Given the description of an element on the screen output the (x, y) to click on. 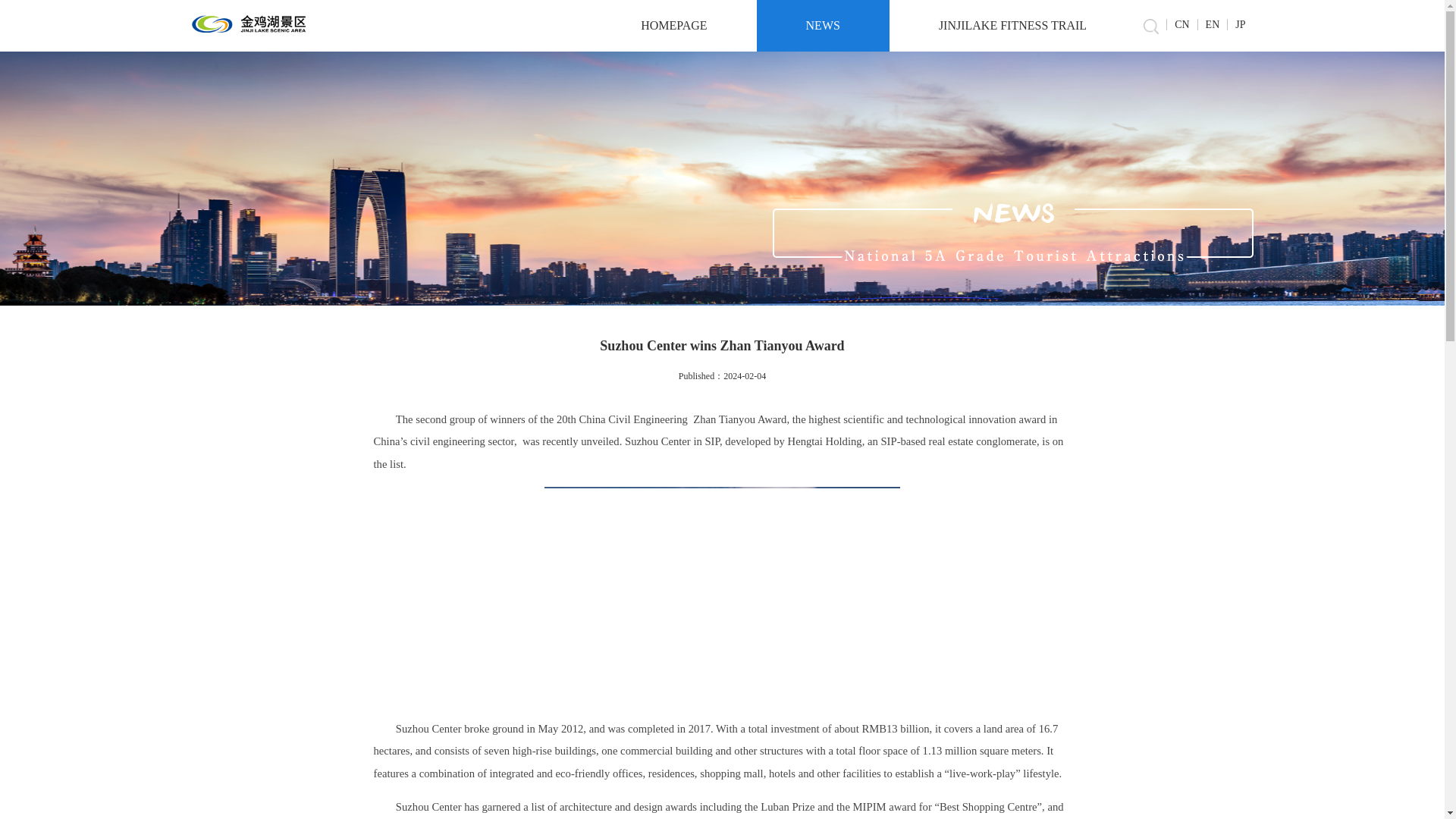
NEWS (823, 25)
HOMEPAGE (673, 25)
JINJILAKE FITNESS TRAIL (1012, 25)
EN (1211, 24)
JP (1239, 24)
CN (1181, 24)
